Given the description of an element on the screen output the (x, y) to click on. 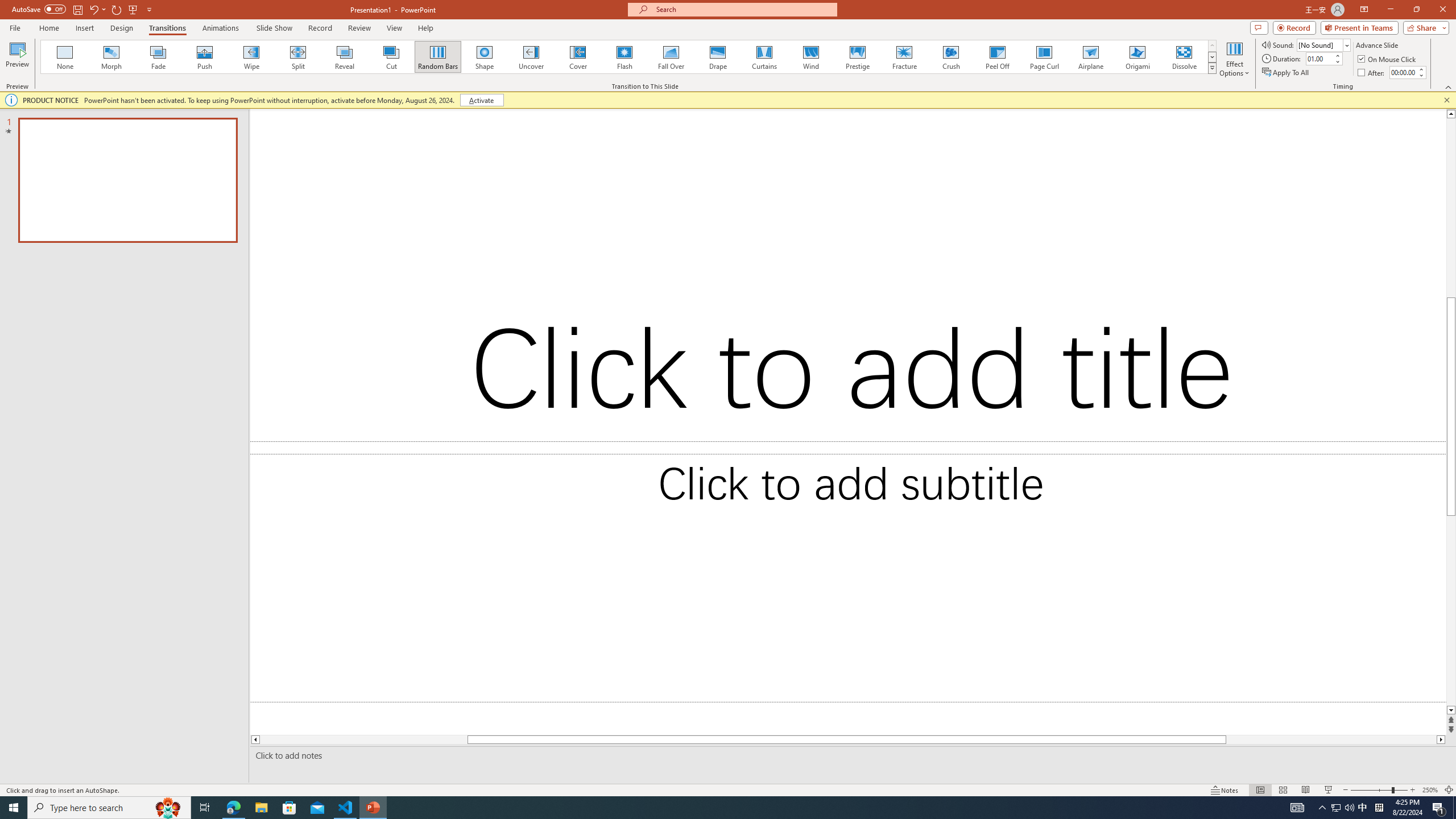
AutomationID: AnimationTransitionGallery (628, 56)
Cover (577, 56)
Peel Off (997, 56)
Curtains (764, 56)
Drape (717, 56)
